Given the description of an element on the screen output the (x, y) to click on. 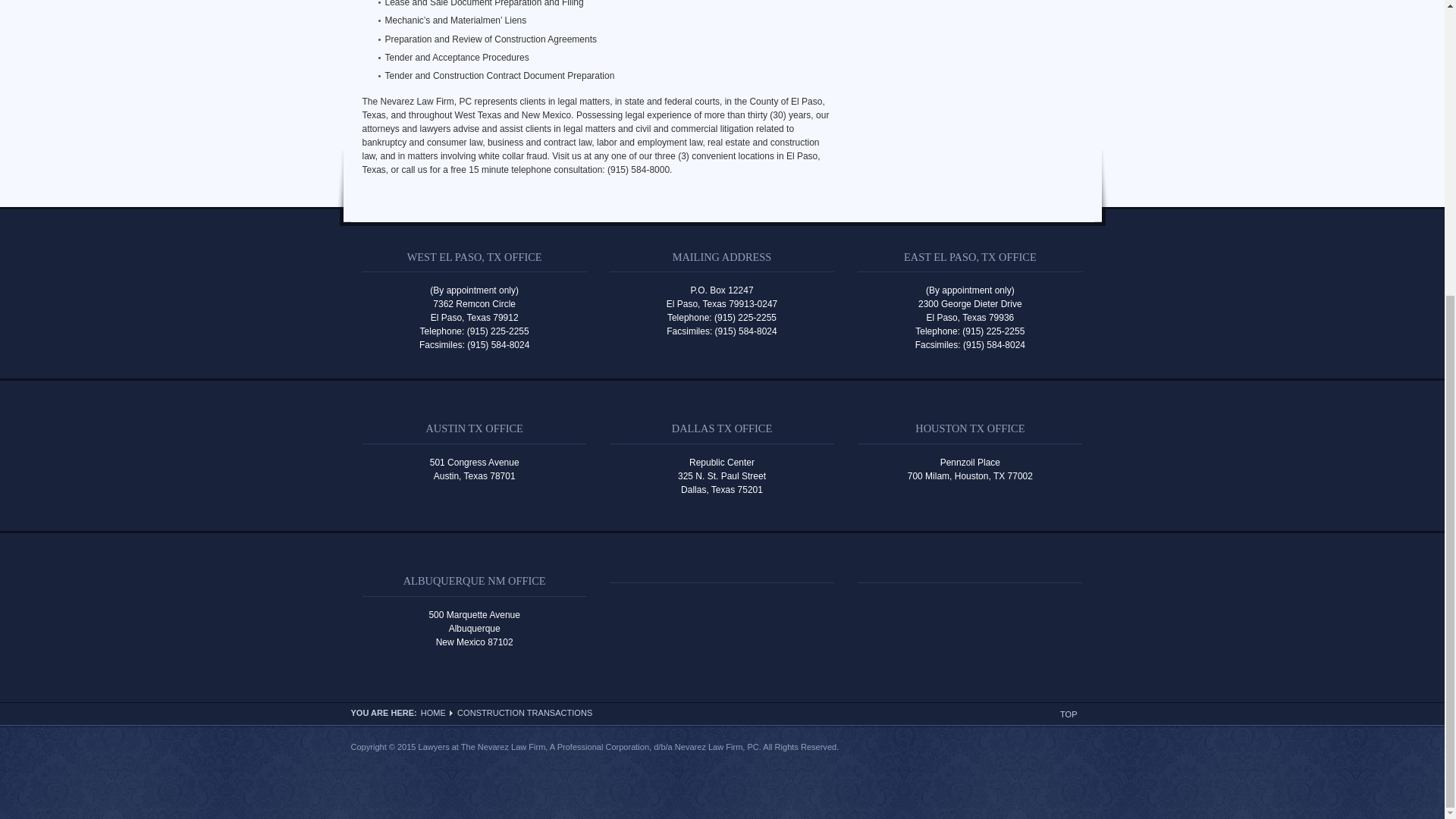
Back to Top (1068, 714)
